Given the description of an element on the screen output the (x, y) to click on. 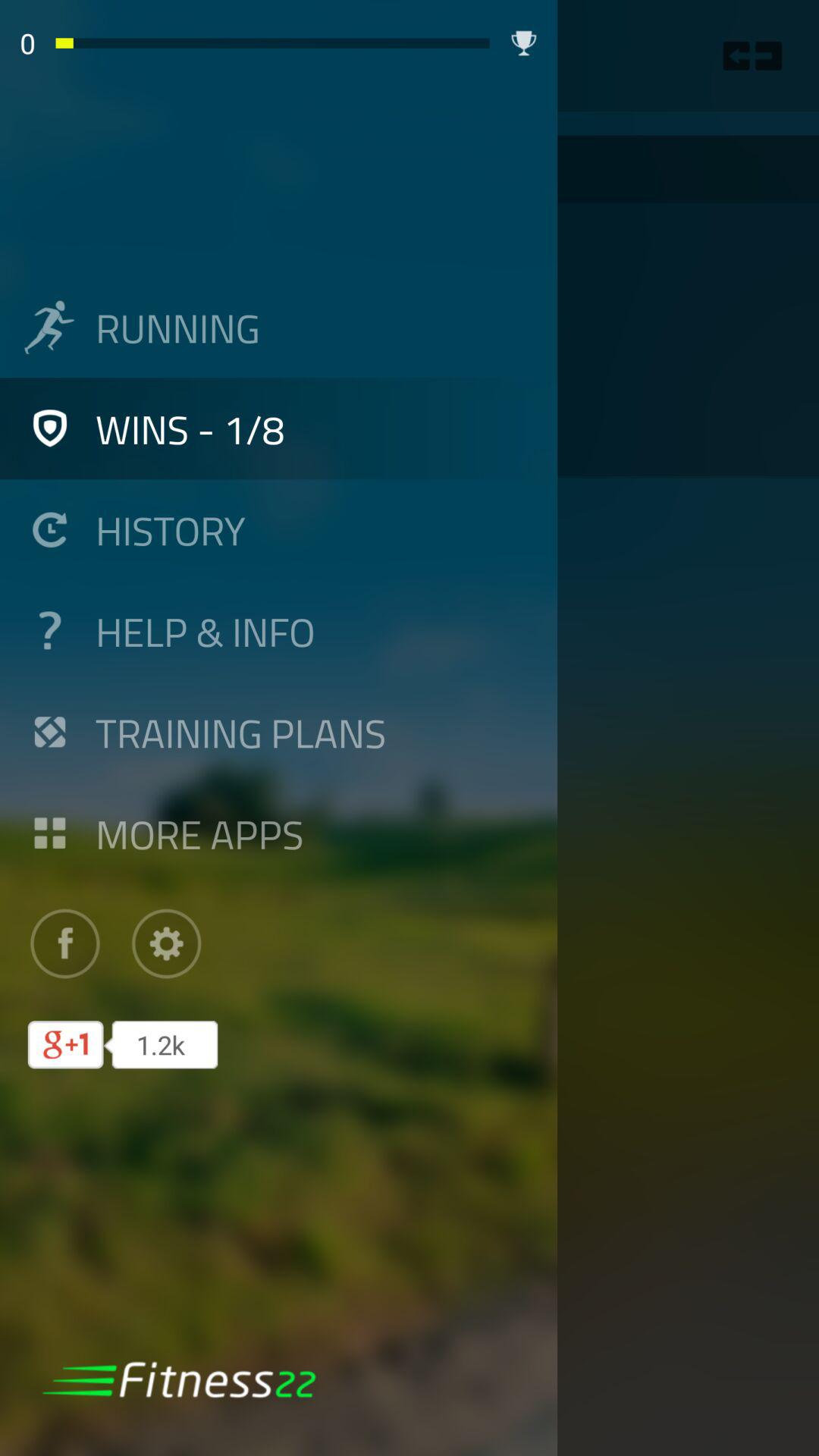
click on icon left to more apps (49, 833)
click on logo at bottom left corner (179, 1378)
go to left of wins (49, 428)
go to left of history (49, 529)
